Given the description of an element on the screen output the (x, y) to click on. 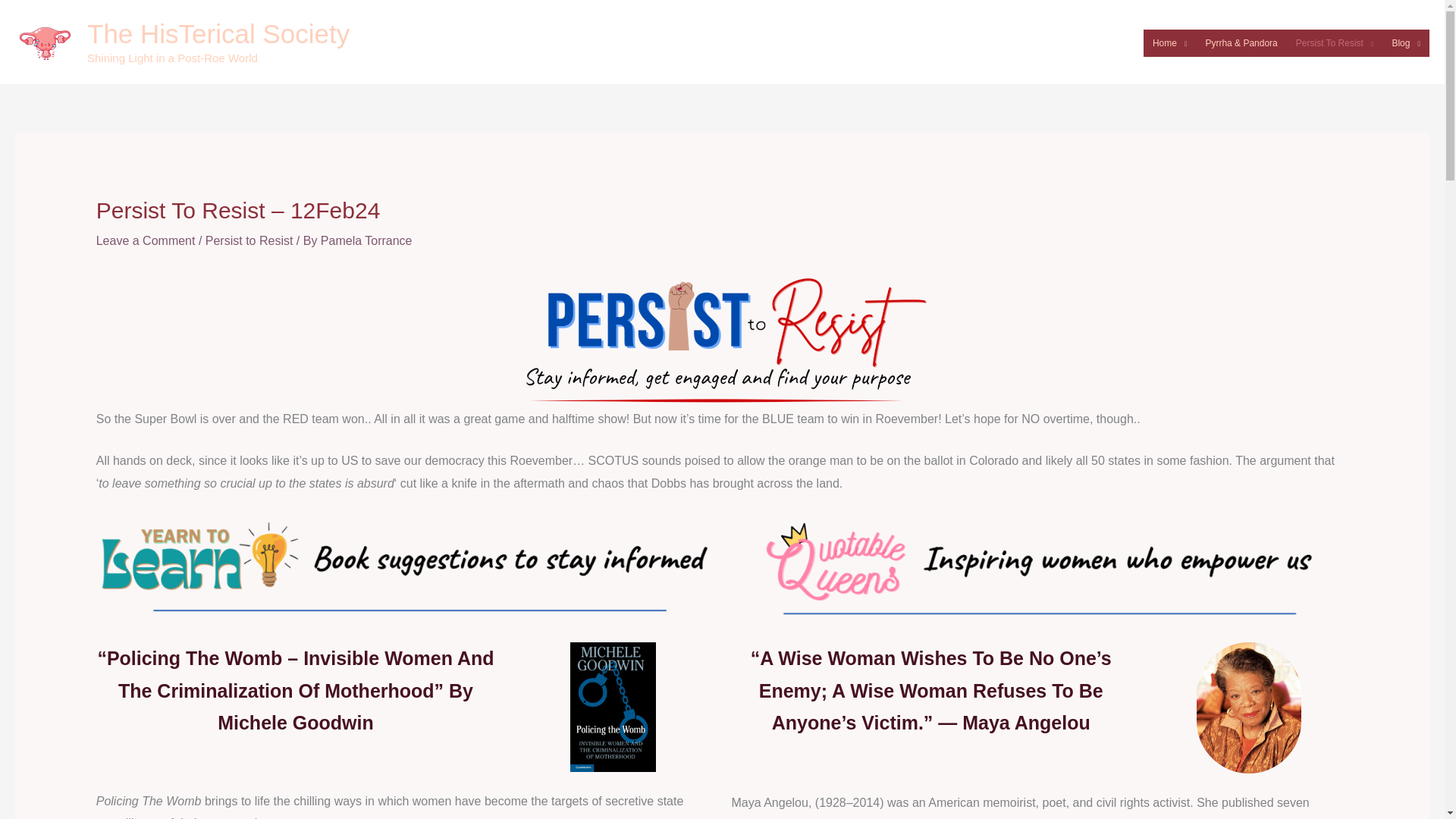
Persist To Resist (1335, 42)
View all posts by Pamela Torrance (366, 240)
The HisTerical Society (218, 33)
Home (1169, 42)
